Given the description of an element on the screen output the (x, y) to click on. 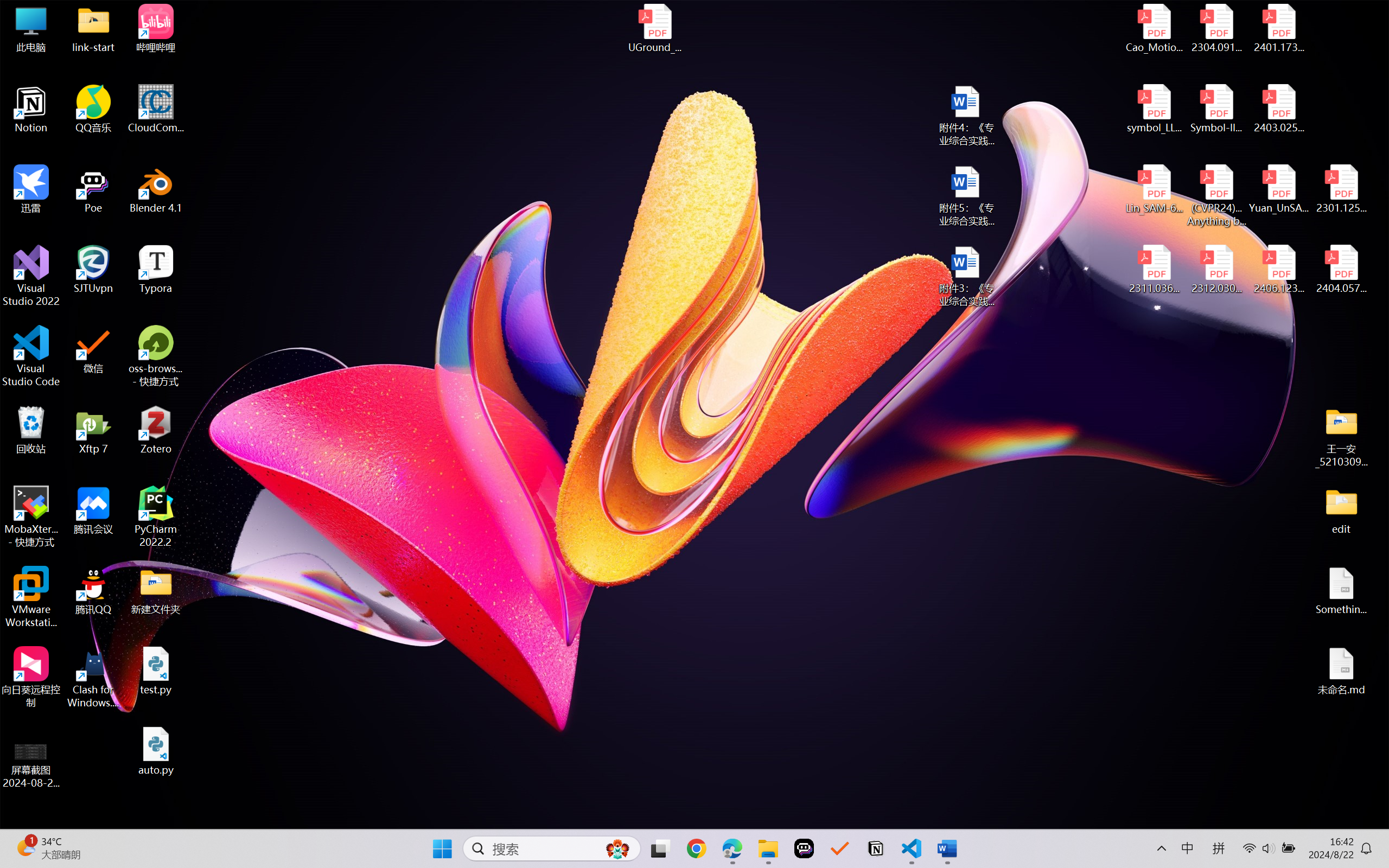
Something.md (1340, 591)
symbol_LLM.pdf (1154, 109)
Visual Studio 2022 (31, 276)
2312.03032v2.pdf (1216, 269)
PyCharm 2022.2 (156, 516)
2311.03658v2.pdf (1154, 269)
edit (1340, 510)
VMware Workstation Pro (31, 597)
